Given the description of an element on the screen output the (x, y) to click on. 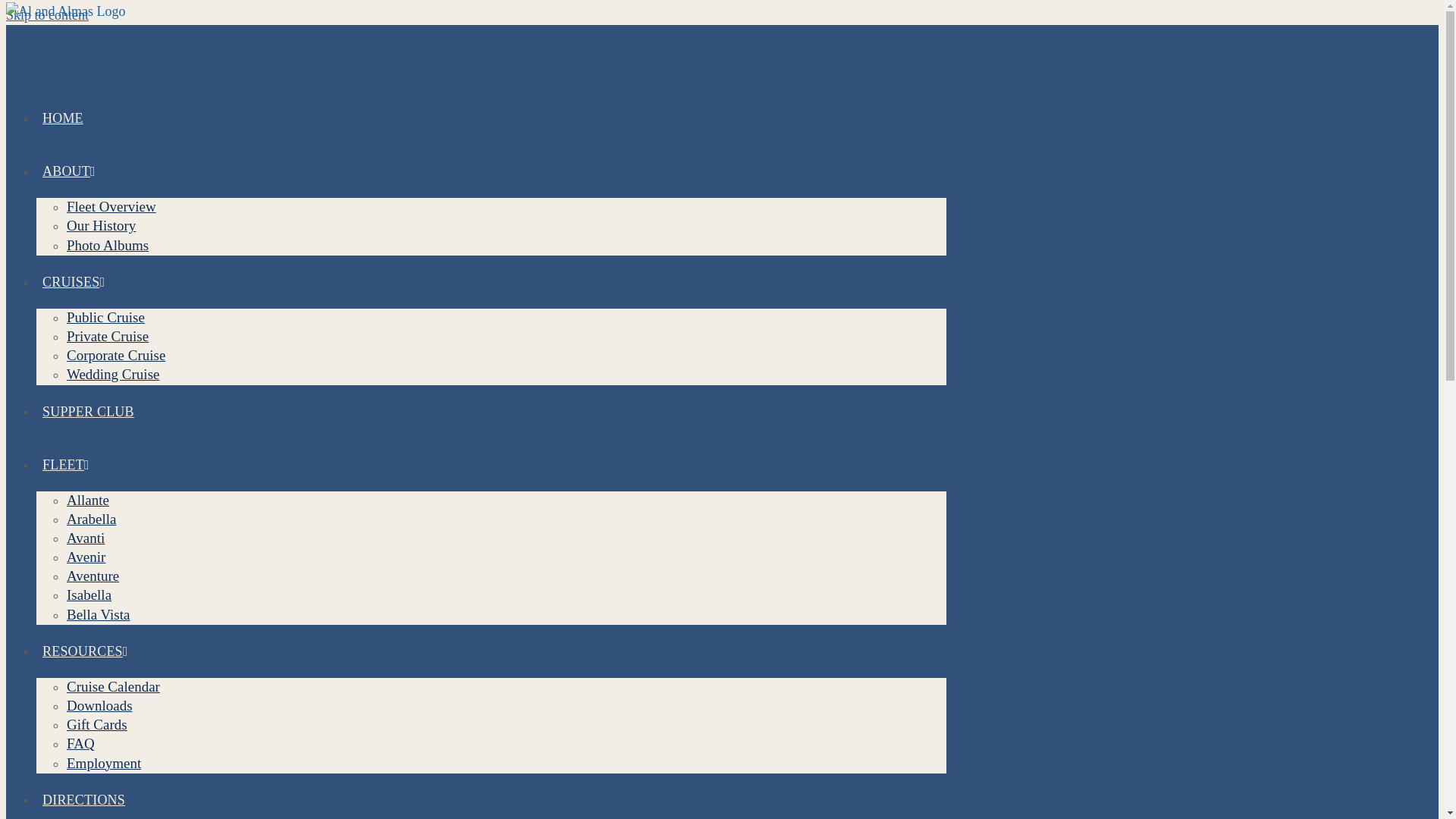
Skip to content (46, 14)
Employment (103, 763)
Wedding Cruise (112, 374)
FLEET (66, 463)
Photo Albums (107, 245)
Avenir (85, 556)
SUPPER CLUB (87, 410)
DIRECTIONS (83, 799)
FAQ (80, 743)
Aventure (92, 575)
Bella Vista (97, 614)
Corporate Cruise (115, 355)
ABOUT (68, 171)
Downloads (99, 705)
CRUISES (73, 281)
